Given the description of an element on the screen output the (x, y) to click on. 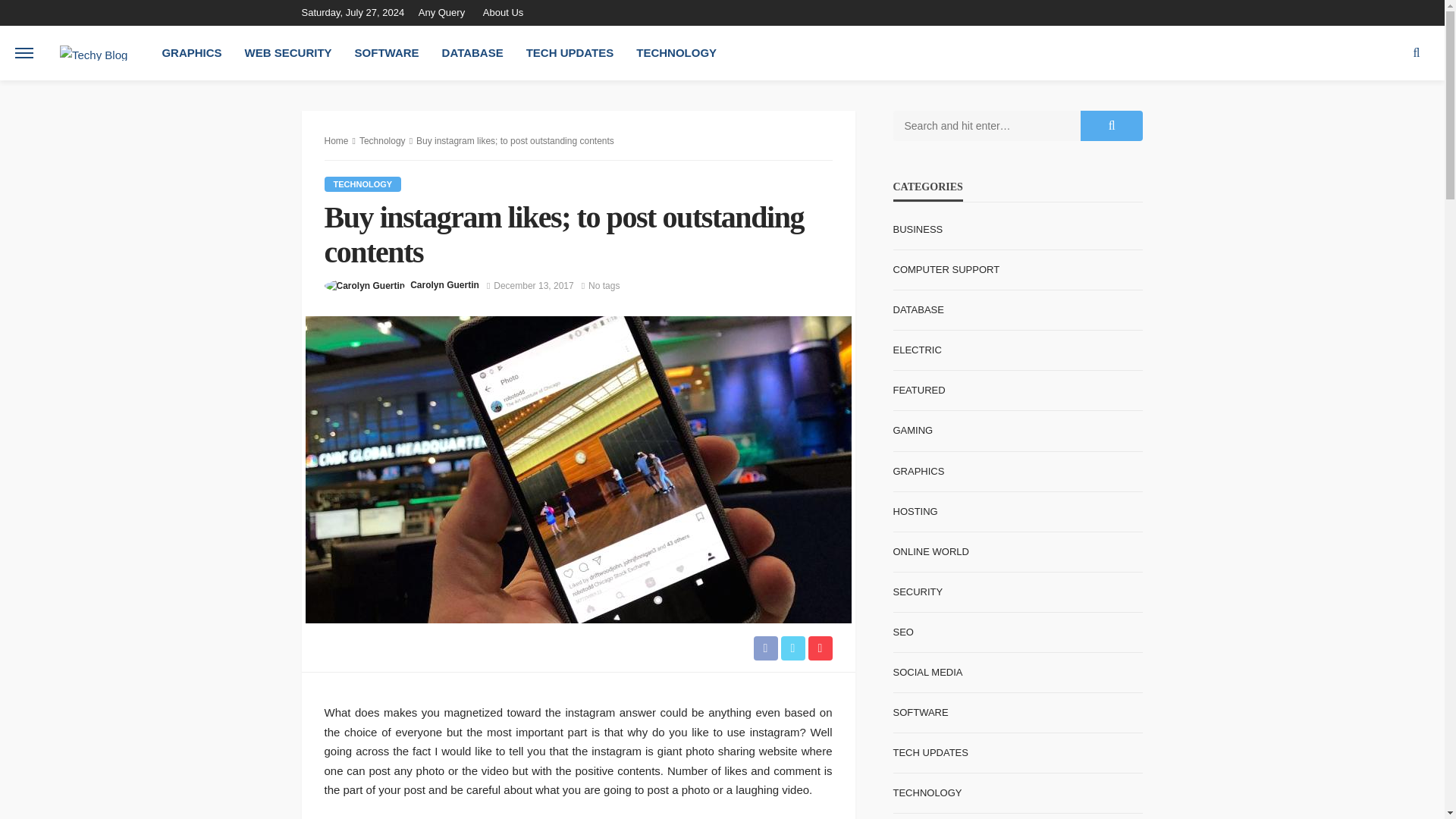
Search (1416, 52)
TECHNOLOGY (676, 52)
Any Query (445, 12)
Carolyn Guertin (444, 284)
TECHNOLOGY (362, 183)
off canvas button (23, 52)
Techy Blog (93, 52)
About Us (503, 12)
WEB SECURITY (287, 52)
GRAPHICS (190, 52)
DATABASE (472, 52)
Technology (362, 183)
Home (336, 140)
SOFTWARE (386, 52)
TECH UPDATES (570, 52)
